Given the description of an element on the screen output the (x, y) to click on. 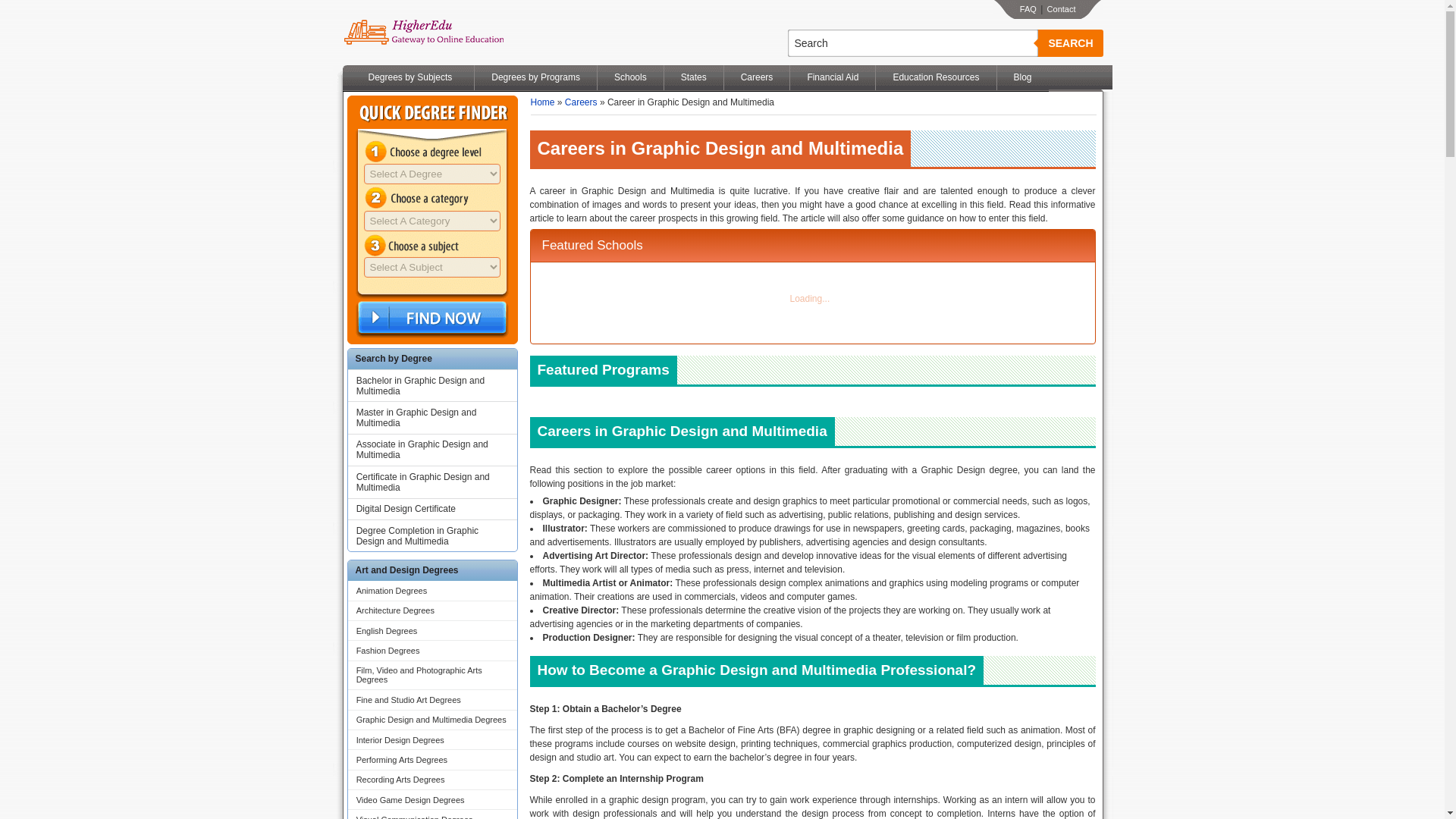
FAQ (1027, 8)
States (693, 77)
Schools (629, 77)
Degrees by Programs (535, 77)
Careers (756, 77)
Degrees by Subjects (410, 77)
Online Education Programs (422, 32)
SEARCH (1070, 42)
Contact (1061, 8)
